Given the description of an element on the screen output the (x, y) to click on. 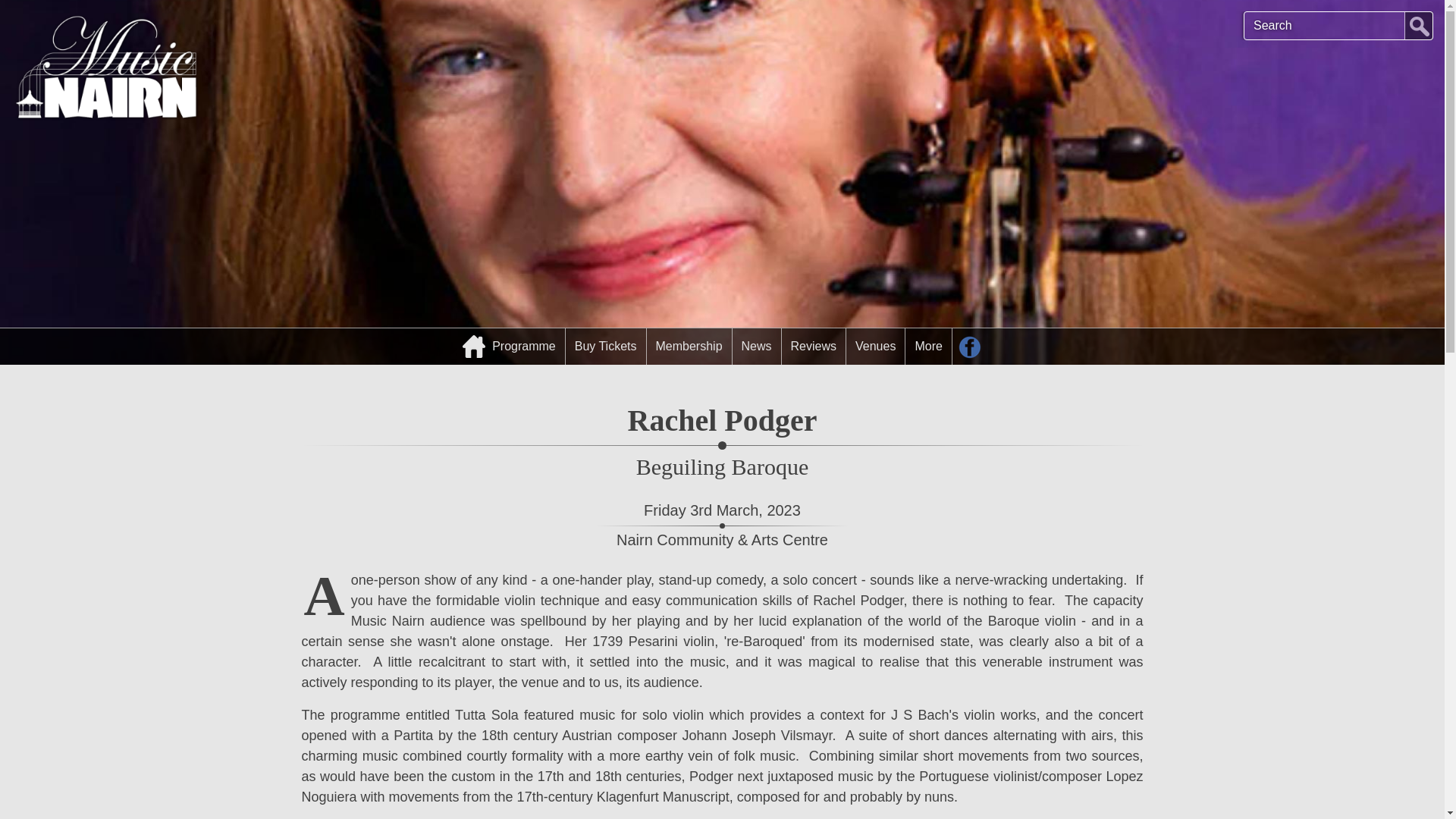
Programme (509, 346)
Book Tickets for Events (606, 346)
How to become a member (689, 346)
Enter the terms you wish to search for. (1337, 25)
Venues (874, 346)
Membership (689, 346)
Search (1418, 25)
Reviews of past events (813, 346)
Reviews (813, 346)
Follow us on Facebook (970, 346)
News (756, 346)
Home and Current Programme of Events (509, 346)
Follow us on Facebook (970, 346)
Search (1418, 25)
